Given the description of an element on the screen output the (x, y) to click on. 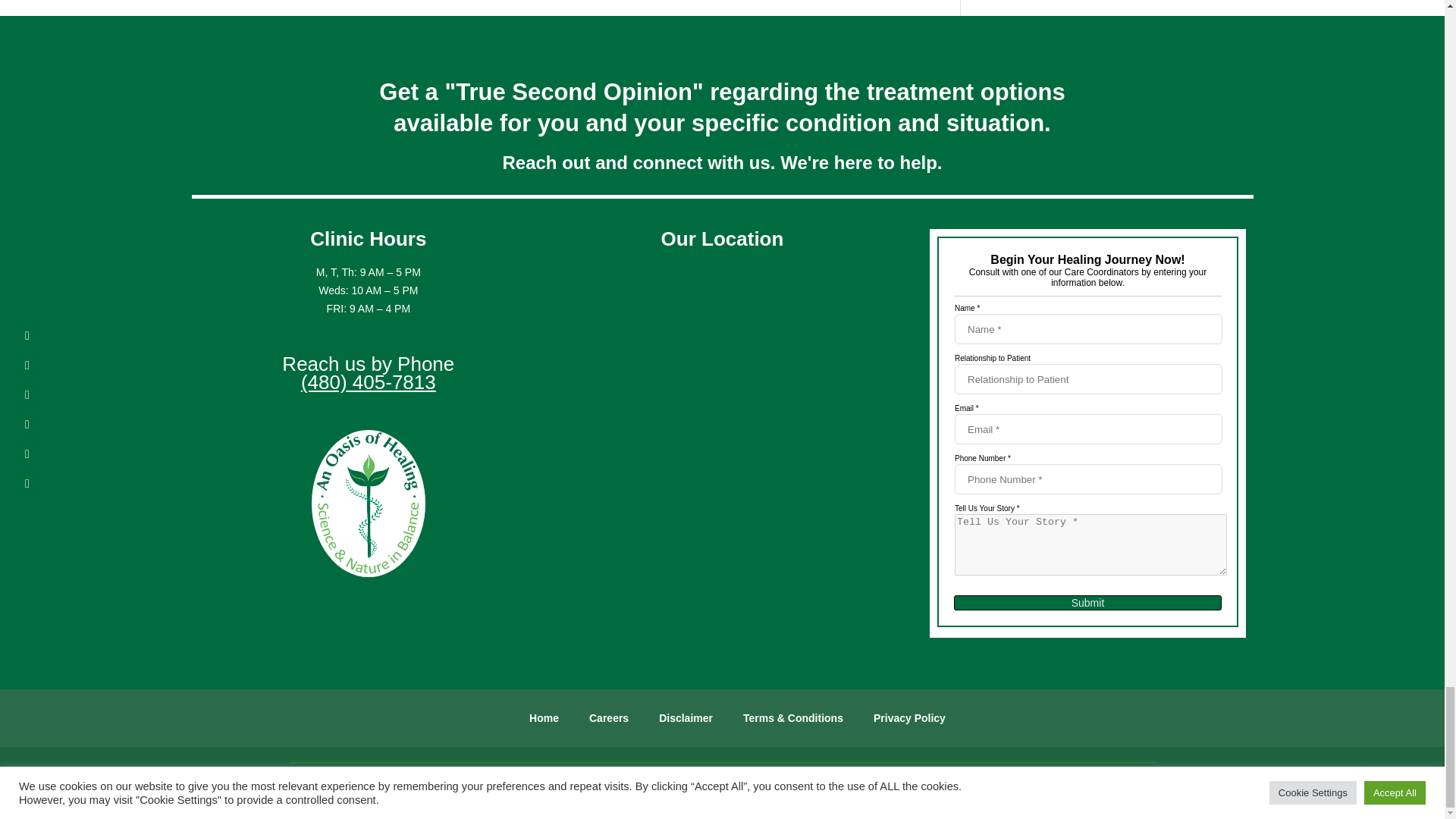
210 N. Center Street, Suite 102 Mesa, AZ 85201 (722, 460)
